Given the description of an element on the screen output the (x, y) to click on. 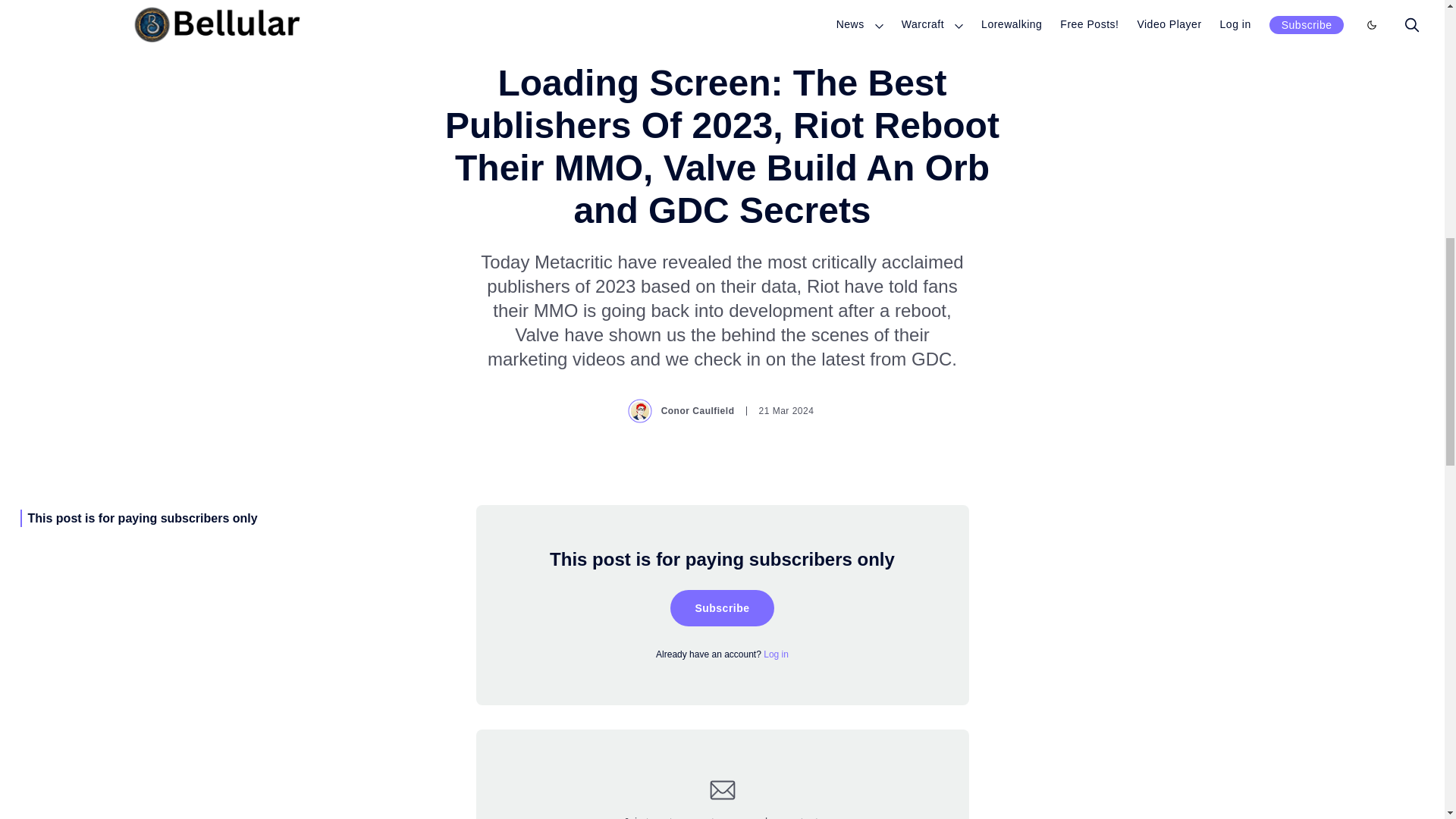
Conor Caulfield (682, 411)
Subscribe (721, 607)
Log in (775, 654)
This post is for paying subscribers only (142, 517)
